Given the description of an element on the screen output the (x, y) to click on. 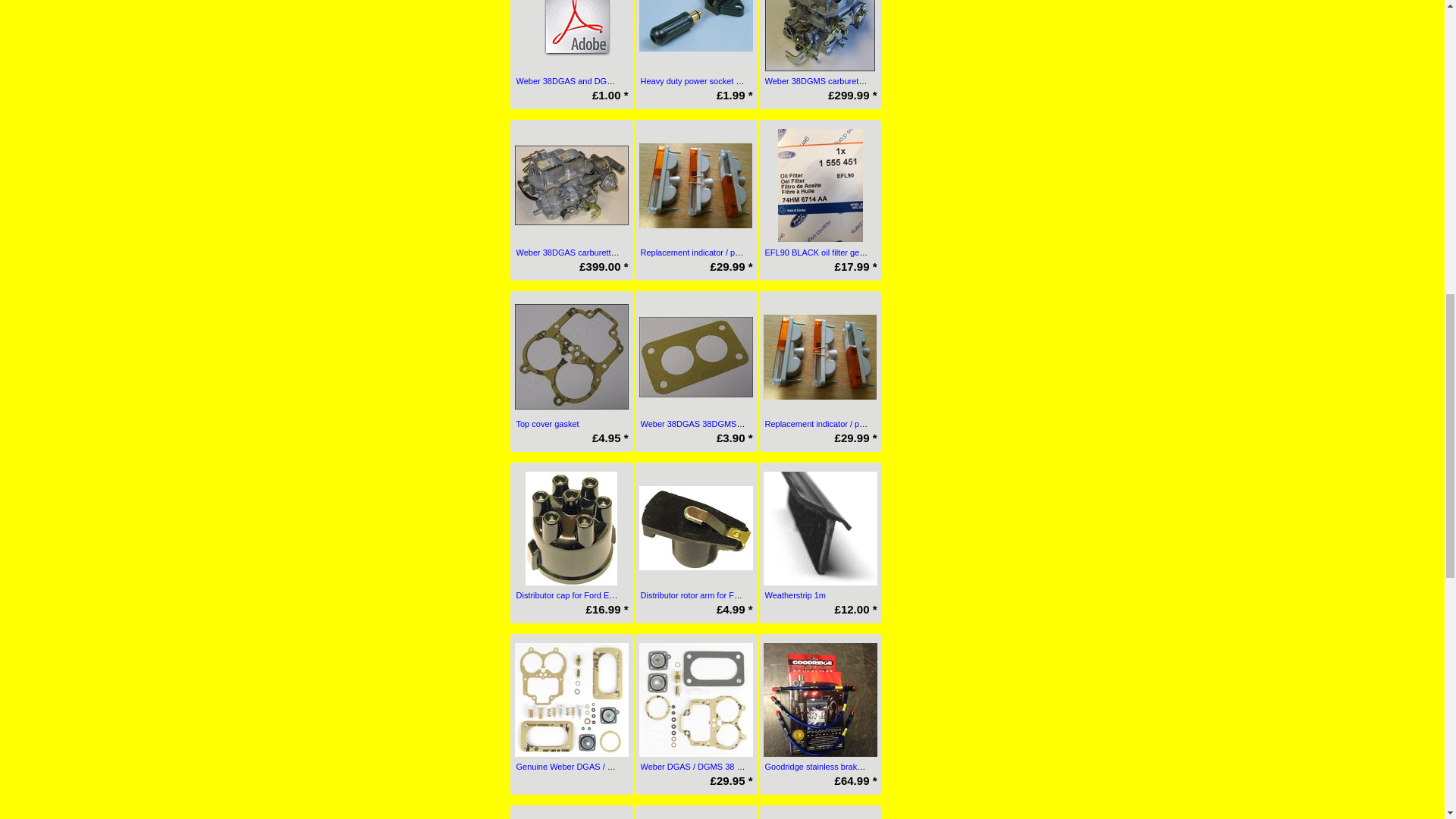
Go to product (820, 35)
Go to product (570, 35)
Weber 38DGAS and DGMS setting up guide (597, 80)
Go to product (695, 25)
Heavy duty power socket only, Surface mount. (725, 80)
Go to product (570, 185)
